Given the description of an element on the screen output the (x, y) to click on. 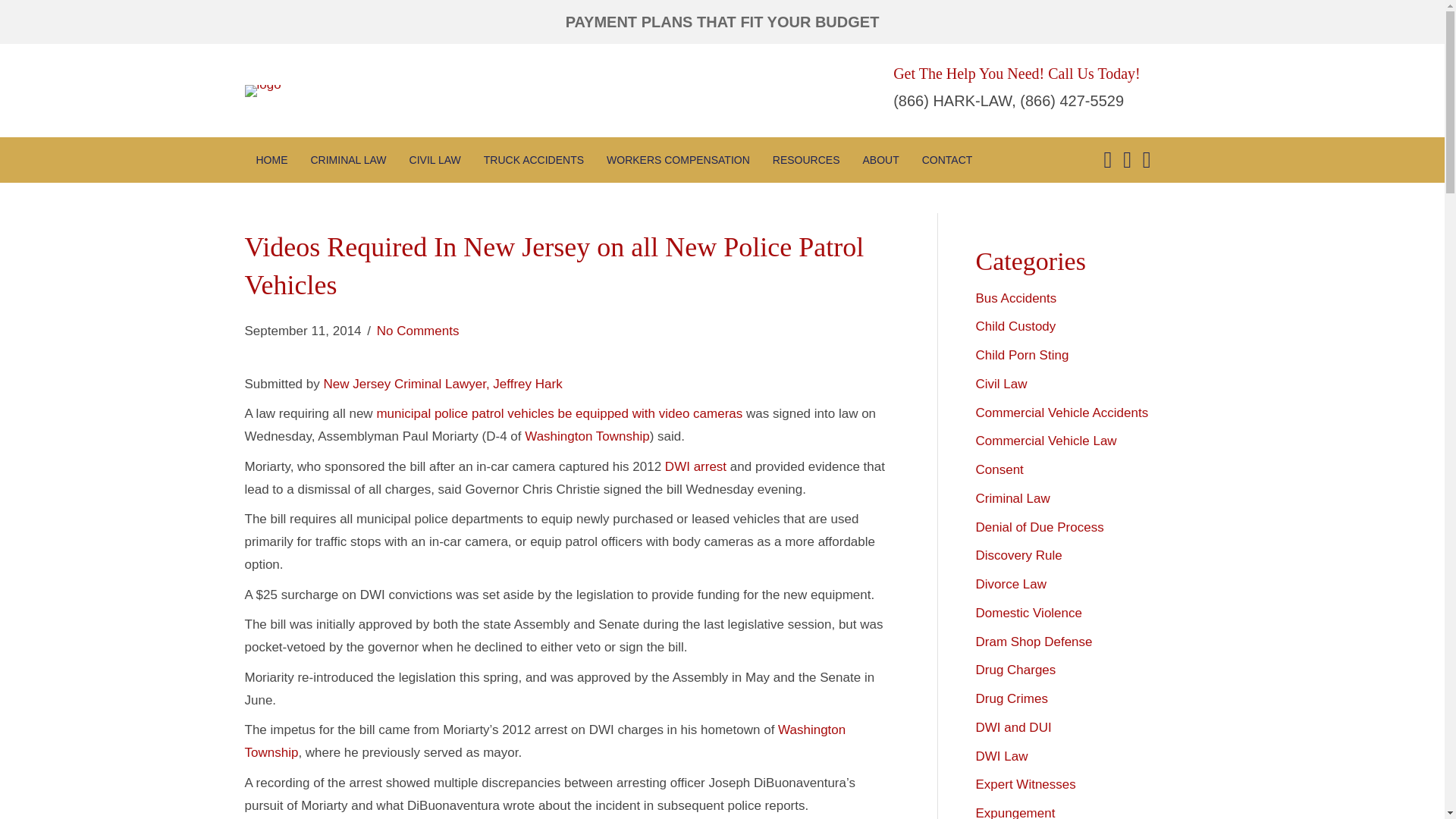
logo (262, 91)
New Jersey Criminal Lawyer Jeffrey Hark (442, 383)
HOME (271, 159)
DWI arrest (695, 466)
CRIMINAL LAW (348, 159)
CIVIL LAW (434, 159)
